Given the description of an element on the screen output the (x, y) to click on. 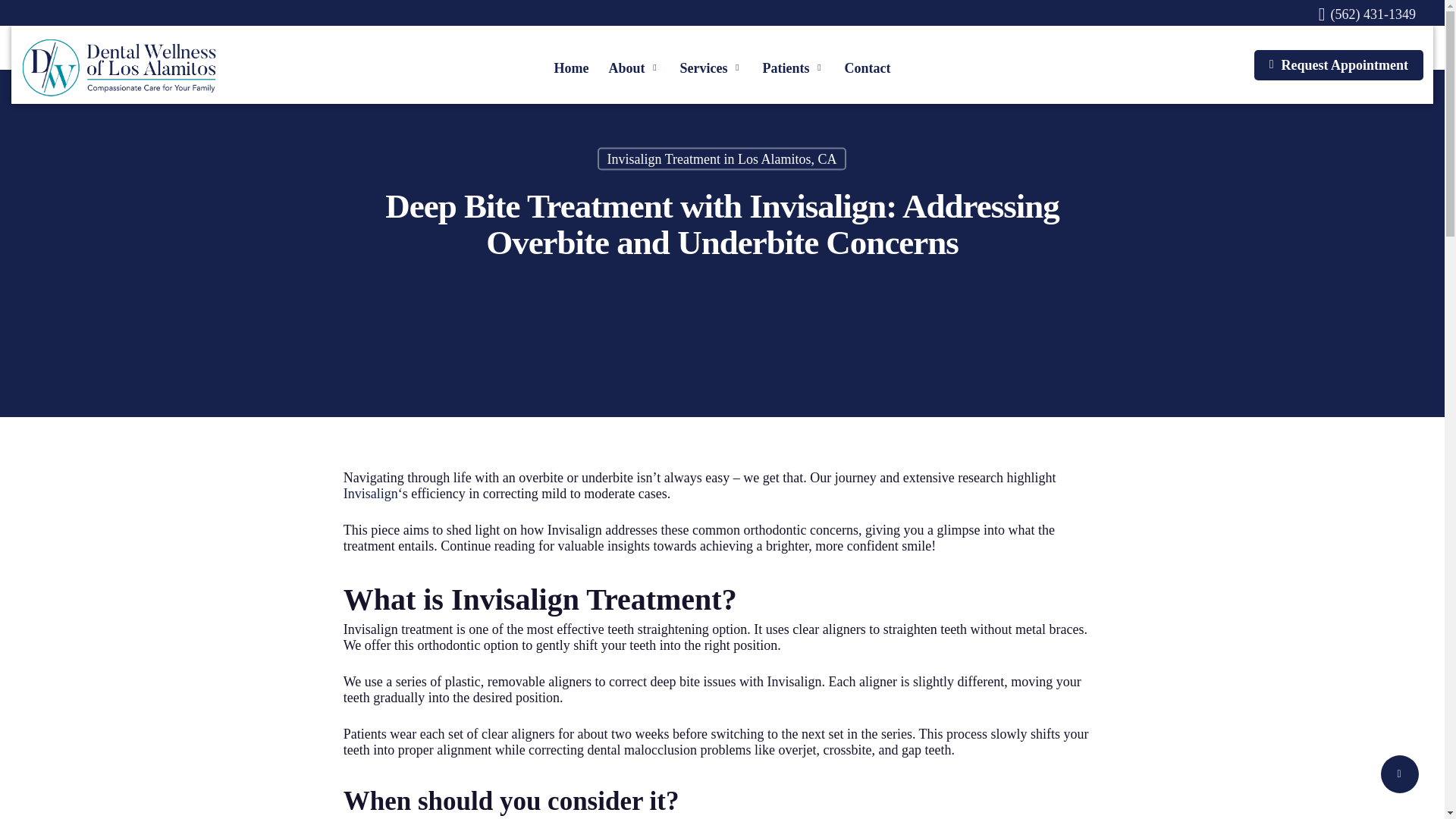
Request Appointment (1338, 64)
About (633, 67)
Patients (793, 67)
Services (710, 67)
Home (571, 67)
Contact (866, 67)
